Given the description of an element on the screen output the (x, y) to click on. 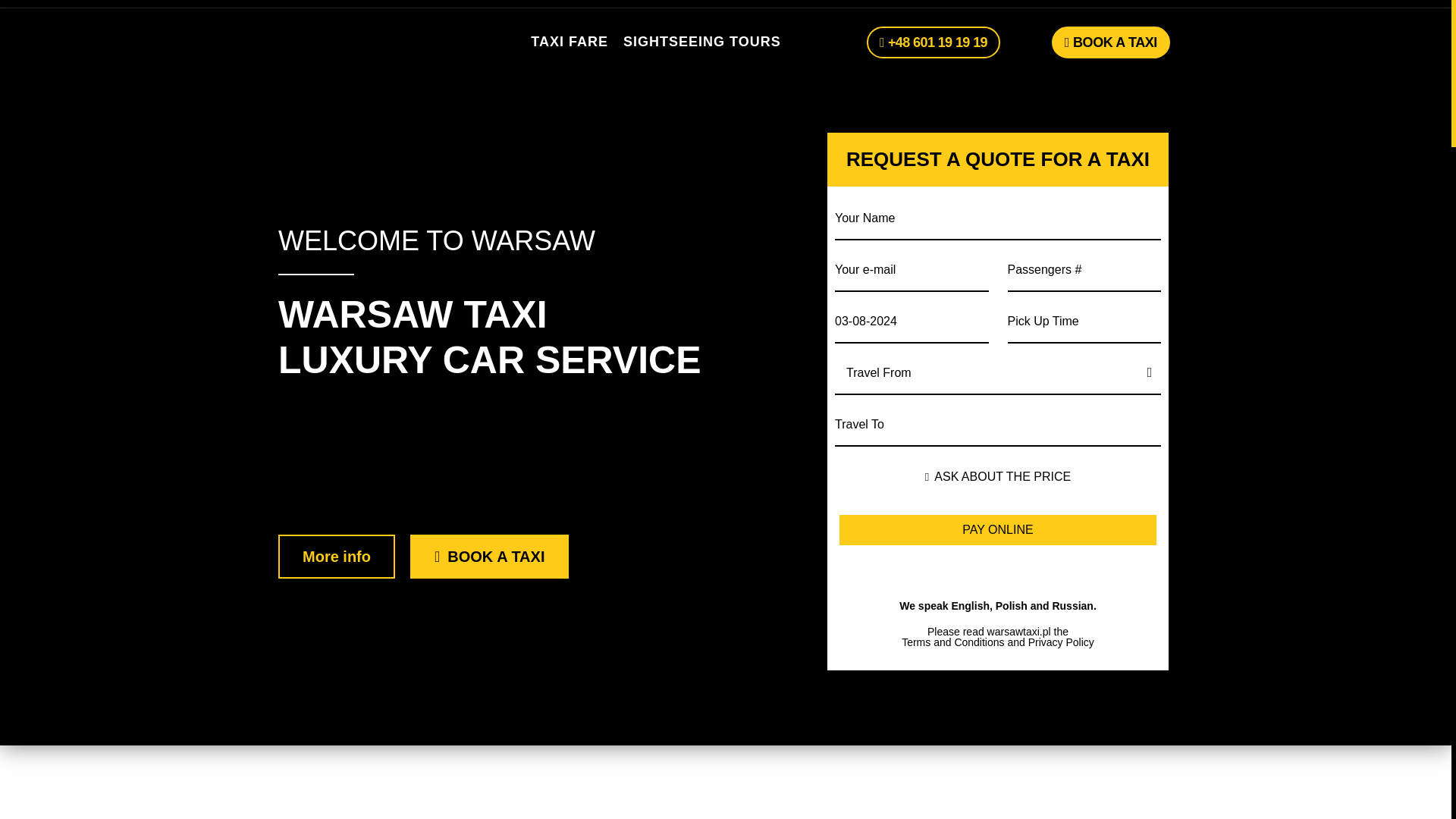
BOOK A TAXI (1110, 42)
03-08-2024 (911, 320)
Terms and Conditions (952, 642)
Privacy Policy (1060, 642)
SIGHTSEEING TOURS (701, 42)
TAXI FARE (569, 42)
PAY ONLINE (998, 530)
More info (336, 556)
BOOK A TAXI (489, 556)
